Given the description of an element on the screen output the (x, y) to click on. 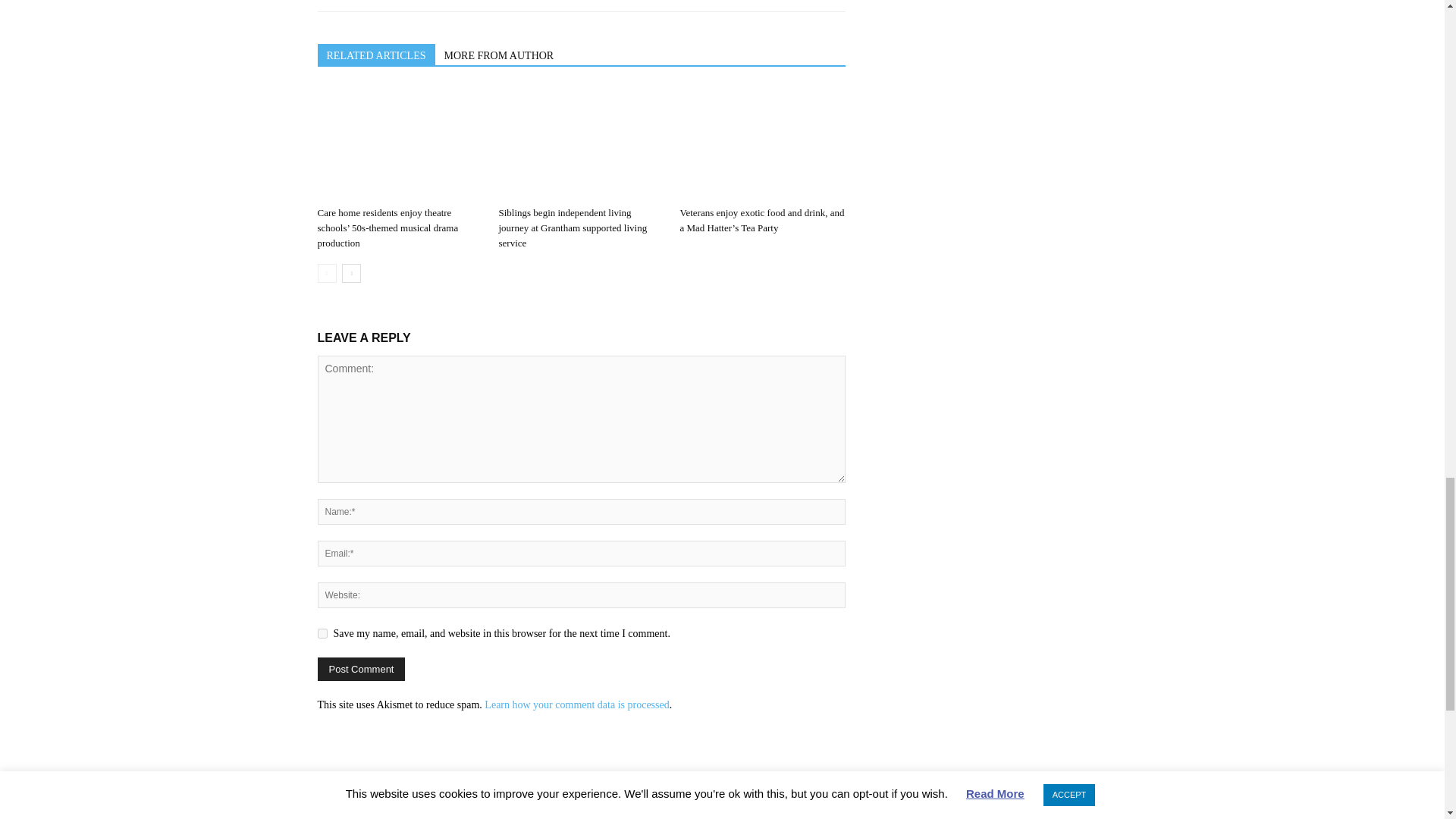
RELATED ARTICLES (375, 54)
Post Comment (360, 668)
yes (321, 633)
